Given the description of an element on the screen output the (x, y) to click on. 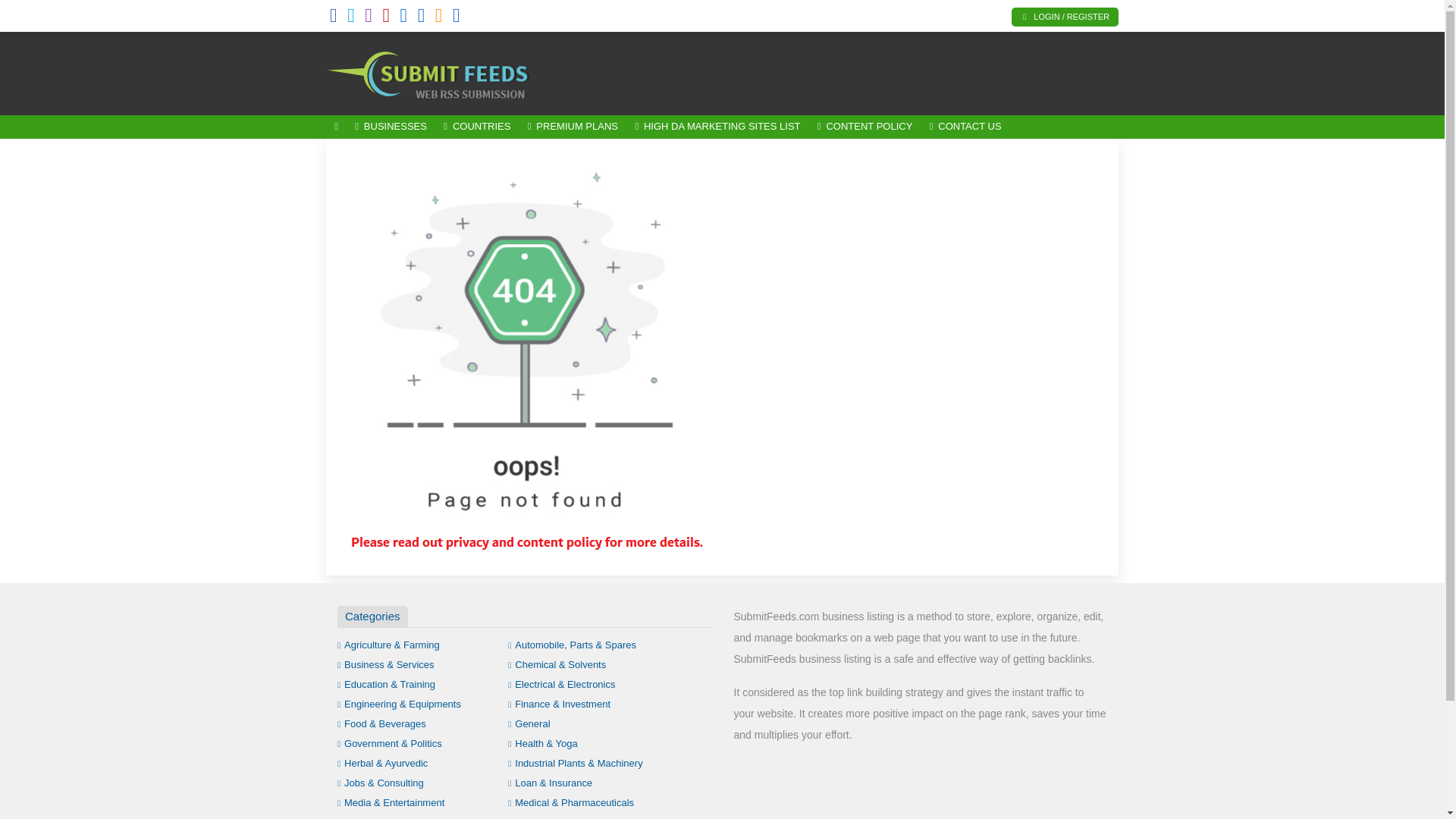
CONTACT US (965, 126)
HIGH DA MARKETING SITES LIST (717, 126)
COUNTRIES (476, 126)
General (529, 723)
PREMIUM PLANS (573, 126)
BUSINESSES (390, 126)
CONTENT POLICY (865, 126)
